Given the description of an element on the screen output the (x, y) to click on. 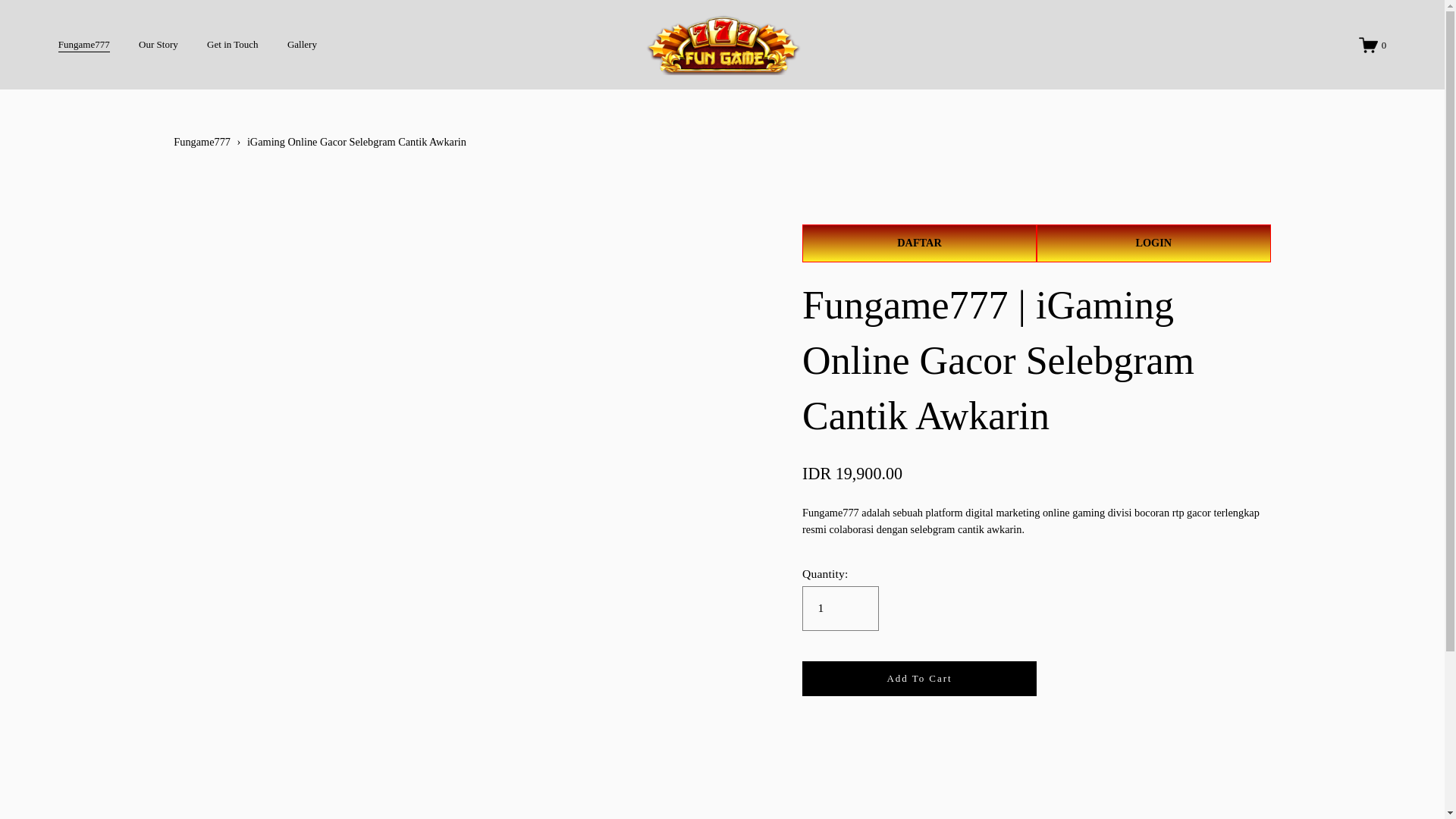
Fungame777 (201, 141)
Fungame777 (84, 44)
Our Story (157, 44)
Gallery (301, 44)
1 (840, 608)
LOGIN (1153, 242)
DAFTAR (919, 242)
iGaming Online Gacor Selebgram Cantik Awkarin (356, 141)
Get in Touch (231, 44)
0 (1372, 45)
